Given the description of an element on the screen output the (x, y) to click on. 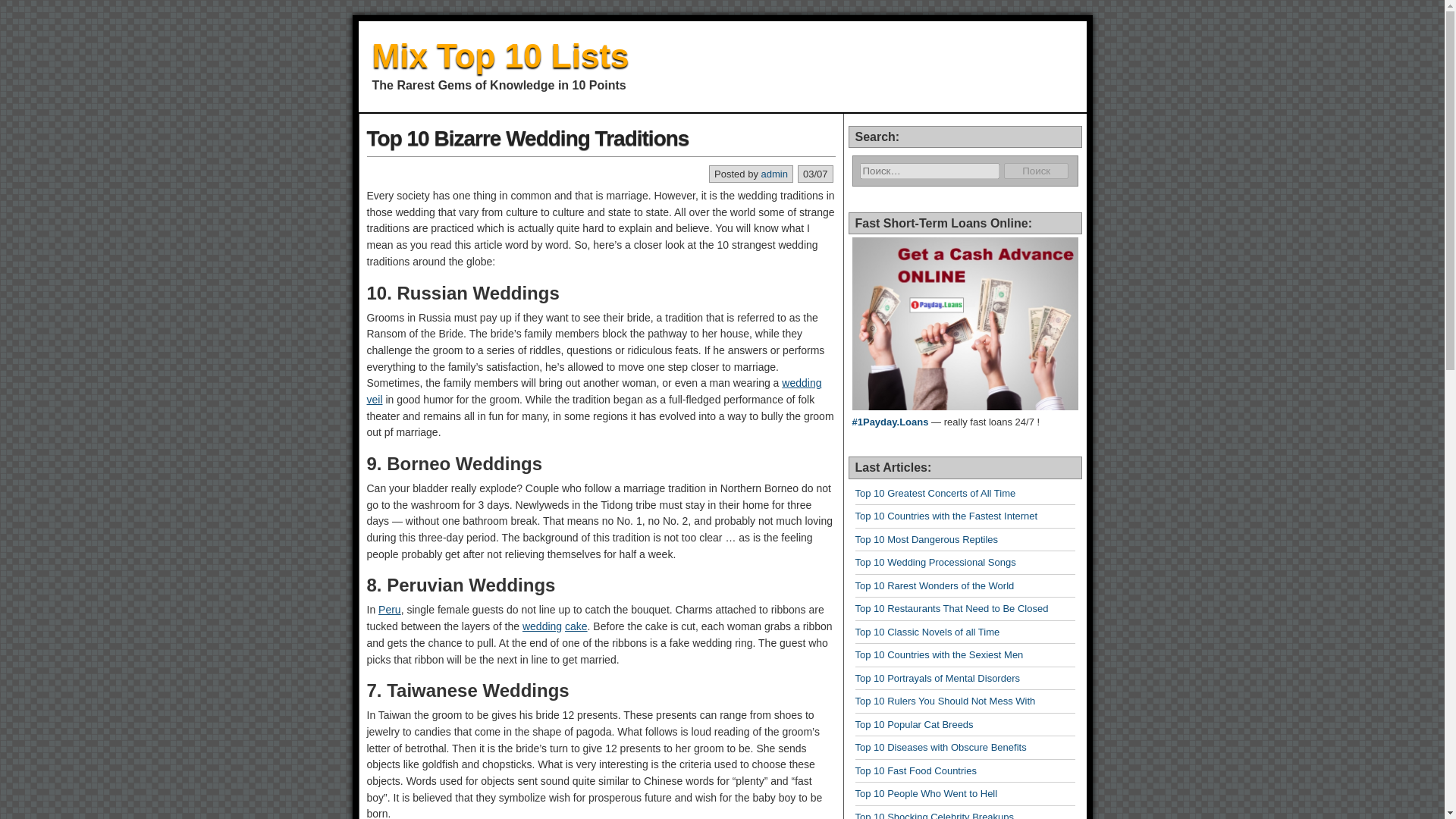
Top 10 Diseases with Obscure Benefits (941, 747)
Top 10 Rulers You Should Not Mess With (945, 700)
Top 10 Wedding Processional Songs (936, 562)
Top 10 Shocking Celebrity Breakups (935, 815)
Top 10 Fast Food Countries (916, 770)
Top 10 Portrayals of Mental Disorders (938, 677)
Top 10 Most Dangerous Reptiles (927, 539)
Top 10 Classic Novels of all Time (928, 632)
Top 10 Countries with the Fastest Internet (947, 515)
admin (774, 173)
